Given the description of an element on the screen output the (x, y) to click on. 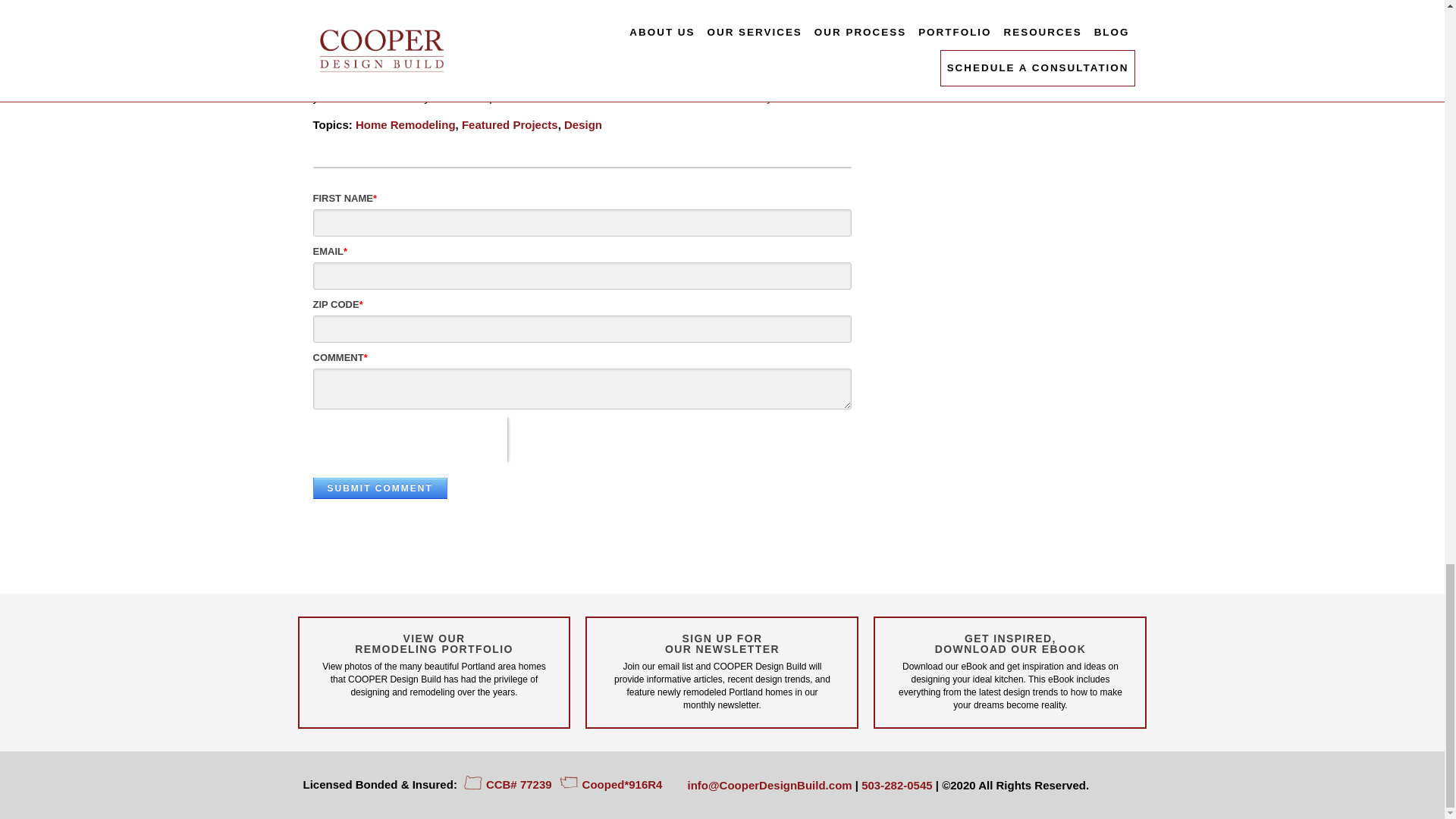
reCAPTCHA (409, 439)
Featured Projects (509, 124)
Home Remodeling (405, 124)
Making the most of your home inspection (490, 53)
Submit Comment (379, 487)
contact our office today. (714, 97)
Design (583, 124)
Submit Comment (379, 487)
